Given the description of an element on the screen output the (x, y) to click on. 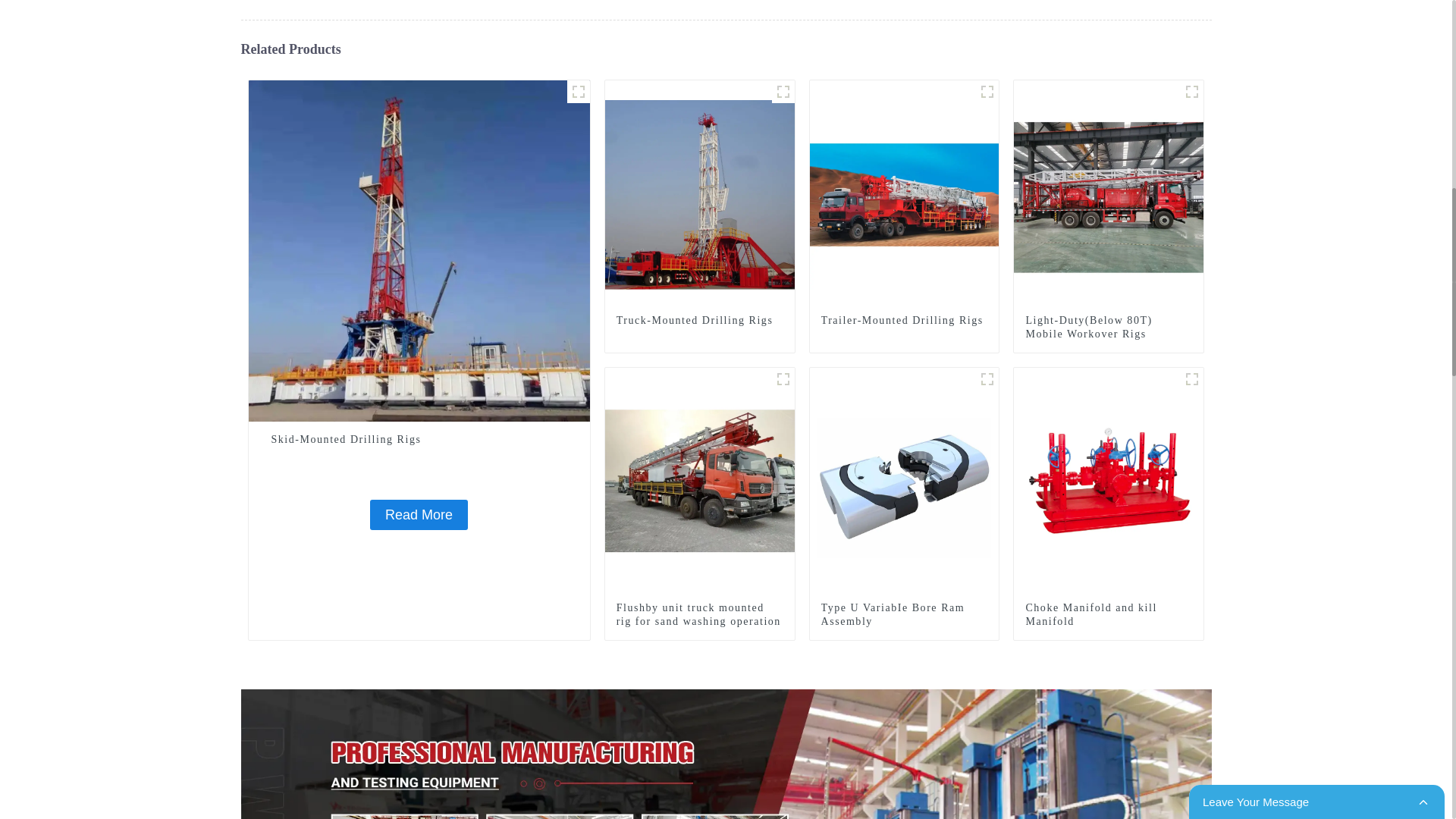
Truck-Mounted Drilling Rigs (699, 320)
WechatIMG80 (782, 378)
Skid-Mounted Drilling Rigs (418, 250)
WechatIMG79 (986, 91)
Trailer-Mounted Drilling Rigs (903, 193)
Skid-Mounted Drilling Rigs (418, 439)
Truck-Mounted Drilling Rigs (699, 193)
Type U VariabIe Bore Ram Assembly (903, 481)
Flushby unit truck mounted rig for sand washing operation (699, 614)
WechatIMG81 (1192, 91)
Type U VariabIe Bore Ram Assembly (904, 614)
Skid-Mounted Drilling Rigs (418, 514)
Flushby unit truck mounted rig for sand washing operation (699, 481)
Trailer-Mounted Drilling Rigs (904, 320)
